Given the description of an element on the screen output the (x, y) to click on. 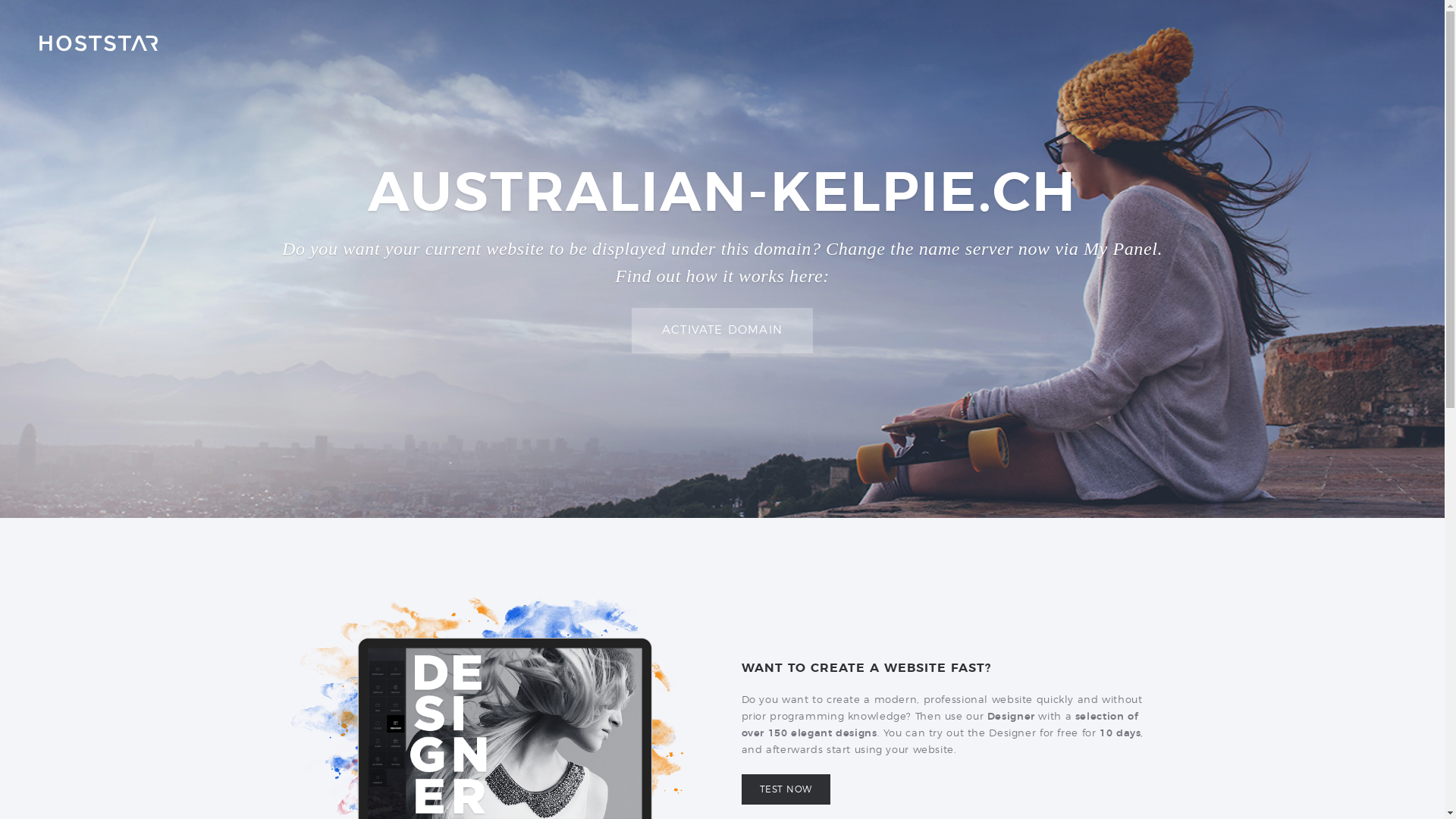
ACTIVATE DOMAIN Element type: text (721, 330)
TEST NOW Element type: text (785, 789)
ACTIVATE DOMAIN Element type: text (721, 330)
